Given the description of an element on the screen output the (x, y) to click on. 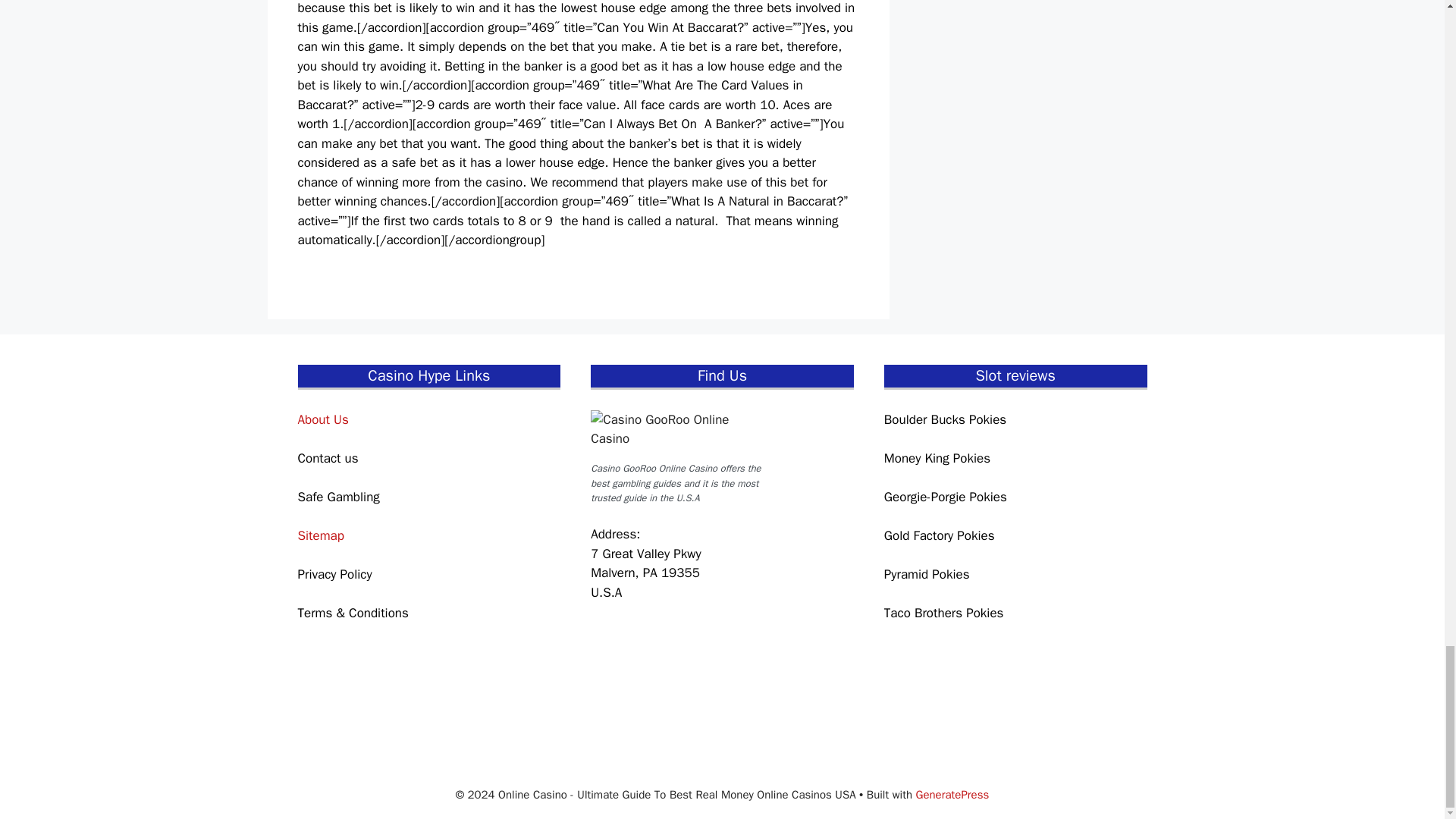
map (704, 678)
